Given the description of an element on the screen output the (x, y) to click on. 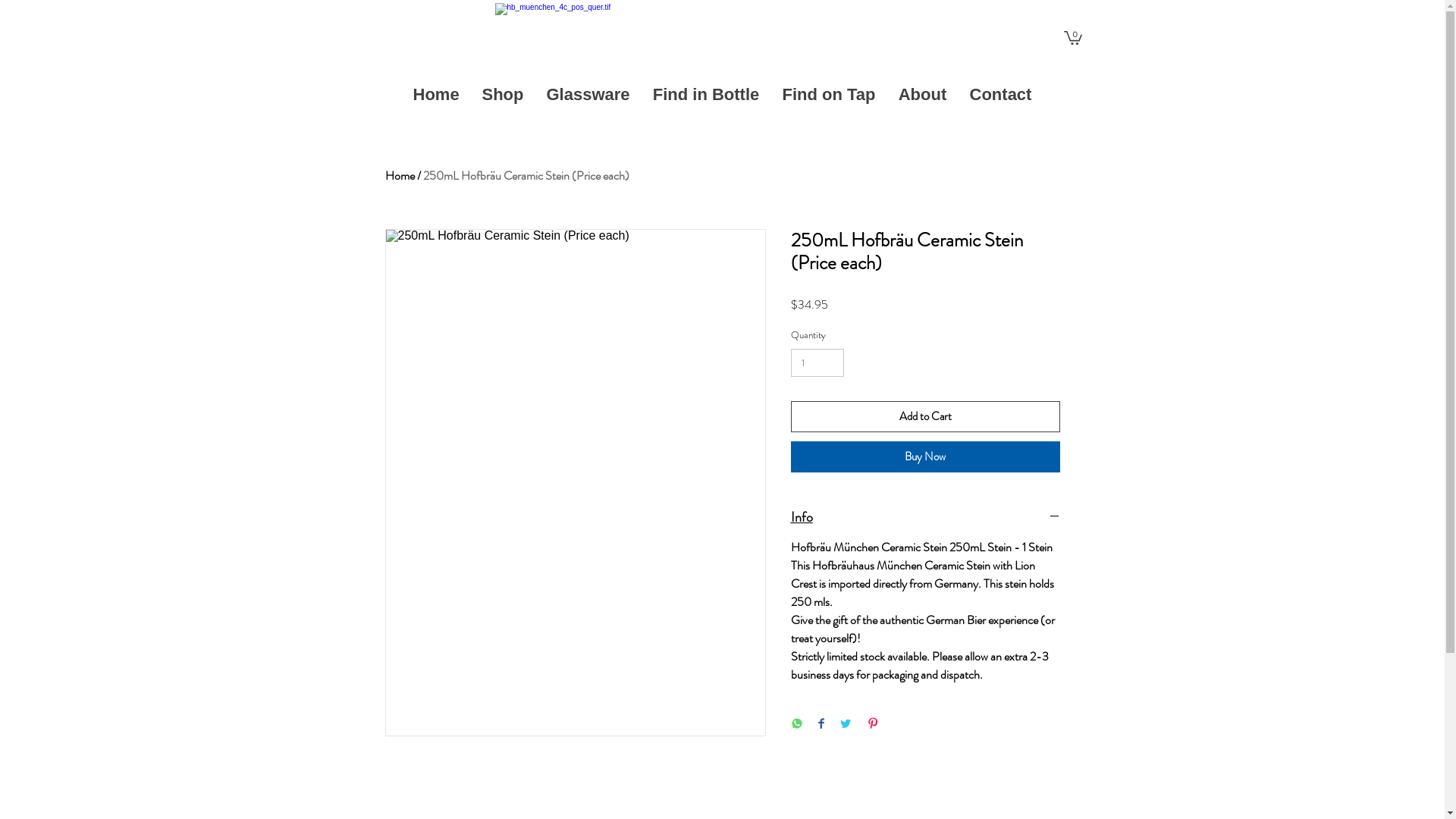
Home Element type: text (435, 94)
0 Element type: text (1072, 36)
Contact Element type: text (1000, 94)
Info Element type: text (924, 516)
Buy Now Element type: text (924, 456)
Add to Cart Element type: text (924, 416)
Home Element type: text (399, 175)
